Given the description of an element on the screen output the (x, y) to click on. 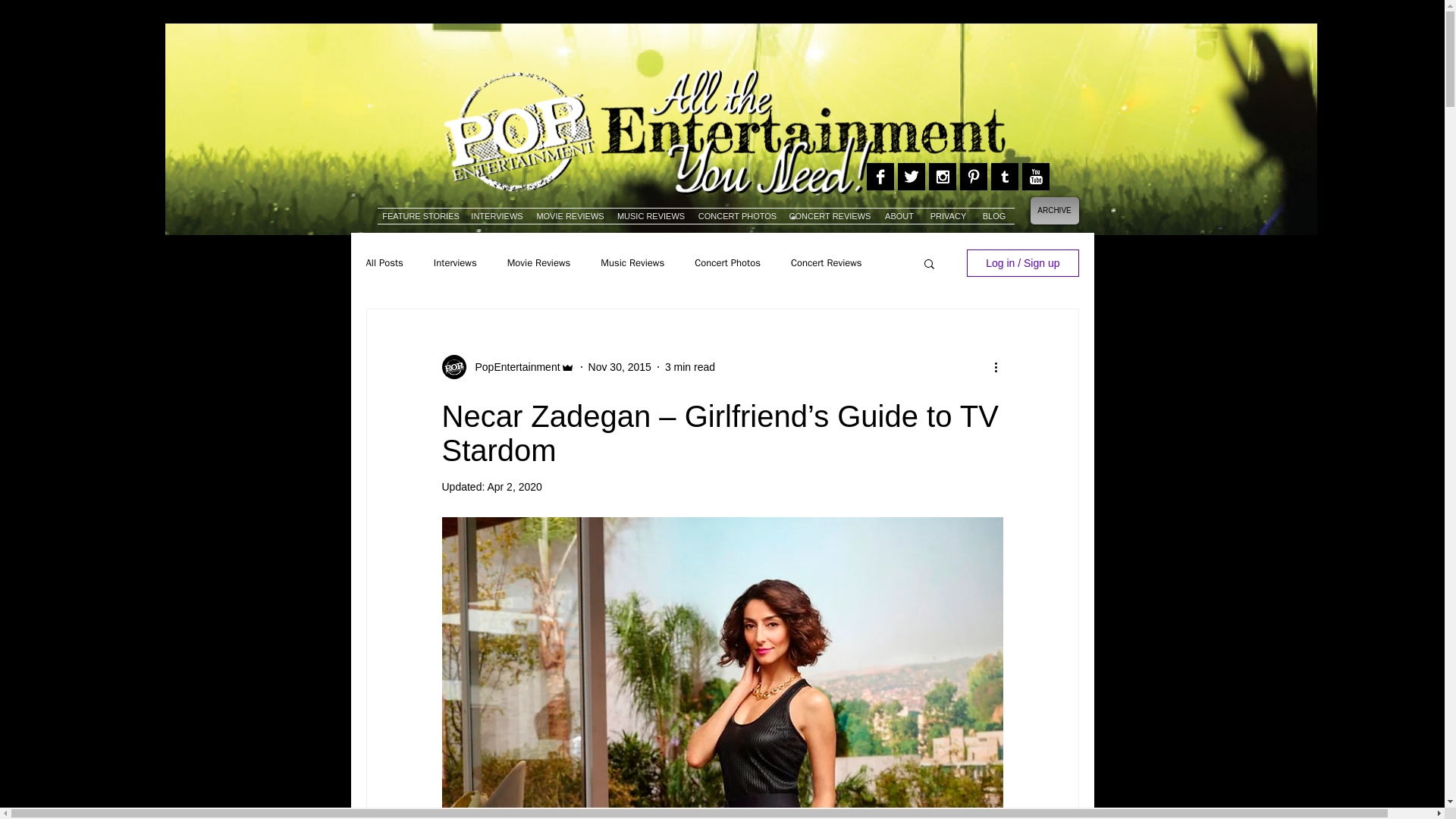
MOVIE REVIEWS (569, 216)
BLOG (993, 216)
Nov 30, 2015 (619, 367)
ARCHIVE (1053, 210)
ABOUT (899, 216)
MUSIC REVIEWS (651, 216)
Music Reviews (631, 263)
CONCERT REVIEWS (830, 216)
Interviews (455, 263)
PopEntertainment (512, 367)
Concert Photos (727, 263)
Concert Reviews (825, 263)
CONCERT PHOTOS (737, 216)
All Posts (384, 263)
PRIVACY (947, 216)
